Given the description of an element on the screen output the (x, y) to click on. 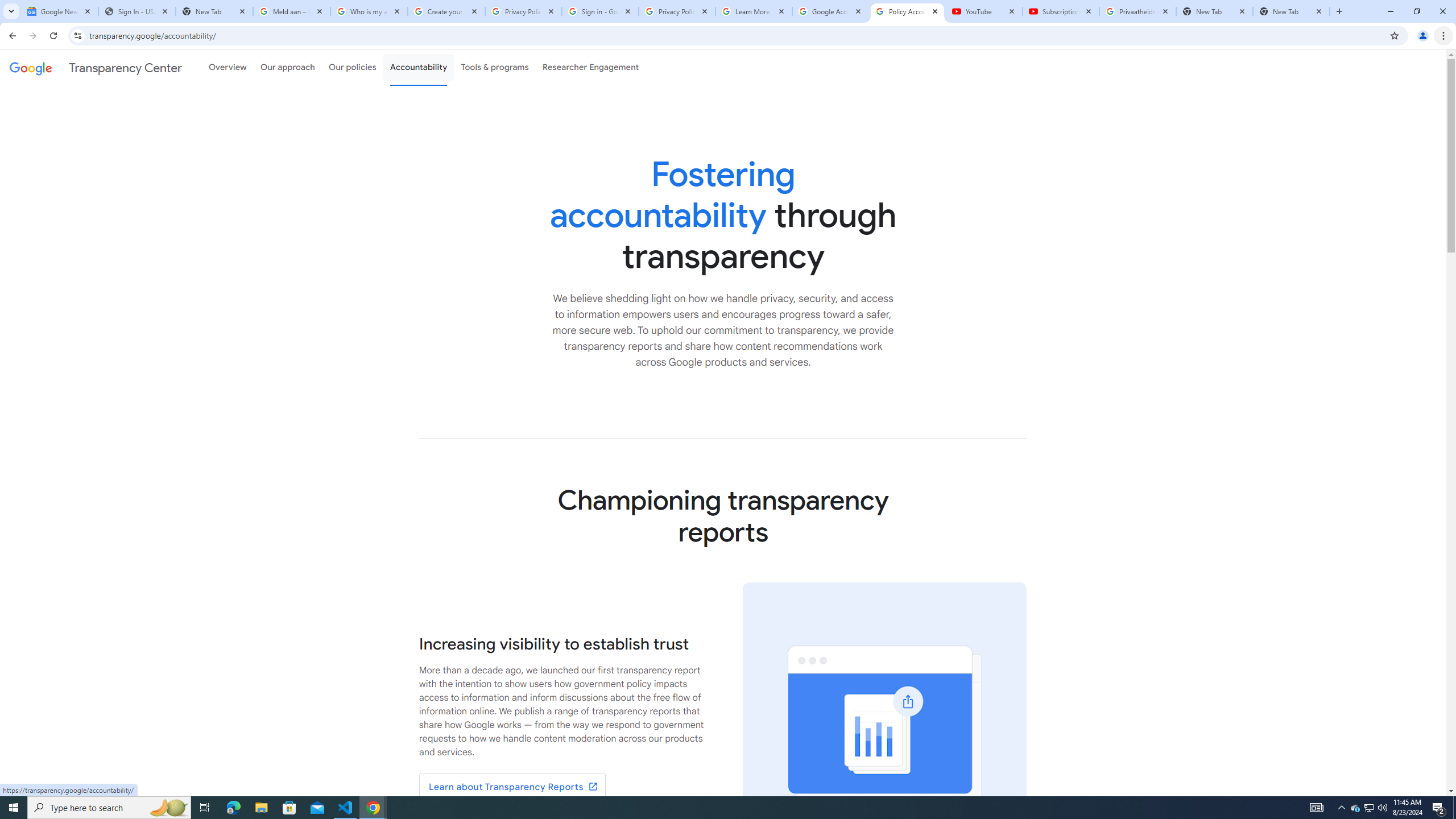
Create your Google Account (446, 11)
Subscriptions - YouTube (1061, 11)
Google News (59, 11)
Google Account (830, 11)
YouTube (983, 11)
Researcher Engagement (590, 67)
New Tab (1291, 11)
